Given the description of an element on the screen output the (x, y) to click on. 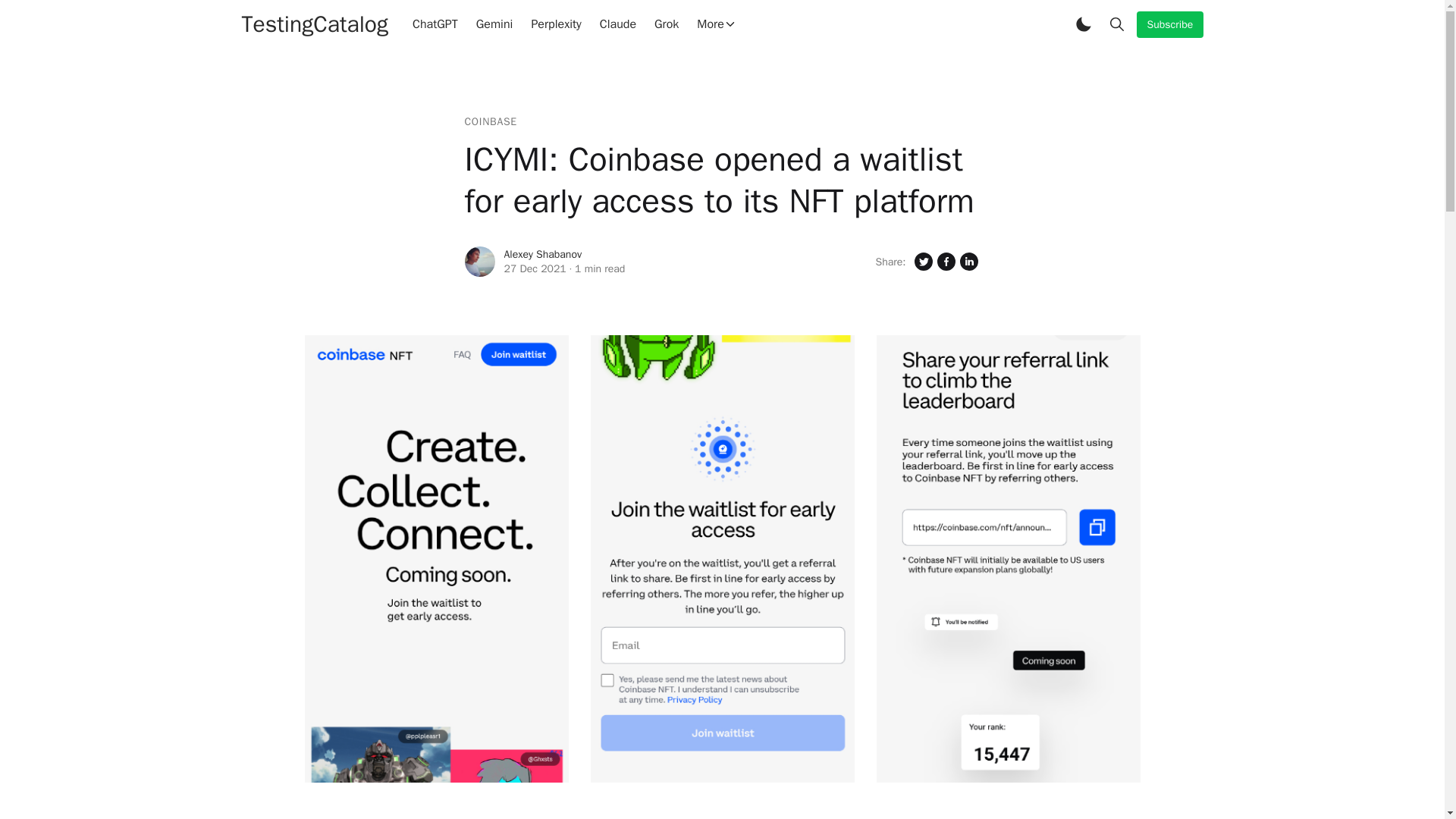
1 min read (599, 268)
Share on Twitter (922, 261)
Alexey Shabanov (541, 254)
Perplexity (555, 24)
Go to the profile of Alexey Shabanov (479, 261)
More (715, 24)
Gemini (494, 24)
COINBASE (490, 121)
Share on Facebook (945, 261)
ChatGPT (435, 24)
Share on Linkedin (967, 261)
TestingCatalog (314, 24)
Subscribe (1169, 23)
Updated 19 Nov 2023 (534, 268)
Claude (618, 24)
